Given the description of an element on the screen output the (x, y) to click on. 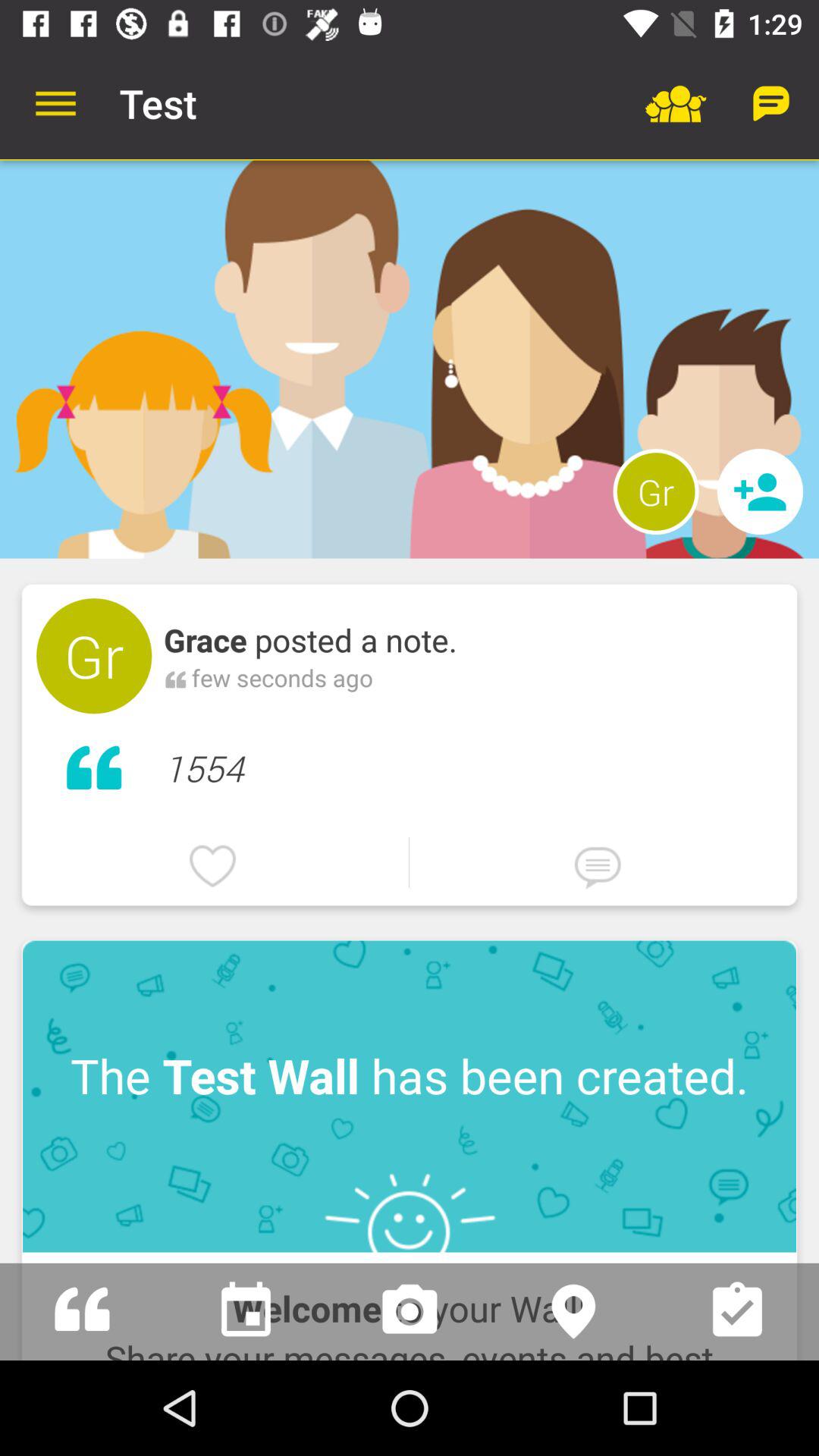
open camera (409, 1311)
